Given the description of an element on the screen output the (x, y) to click on. 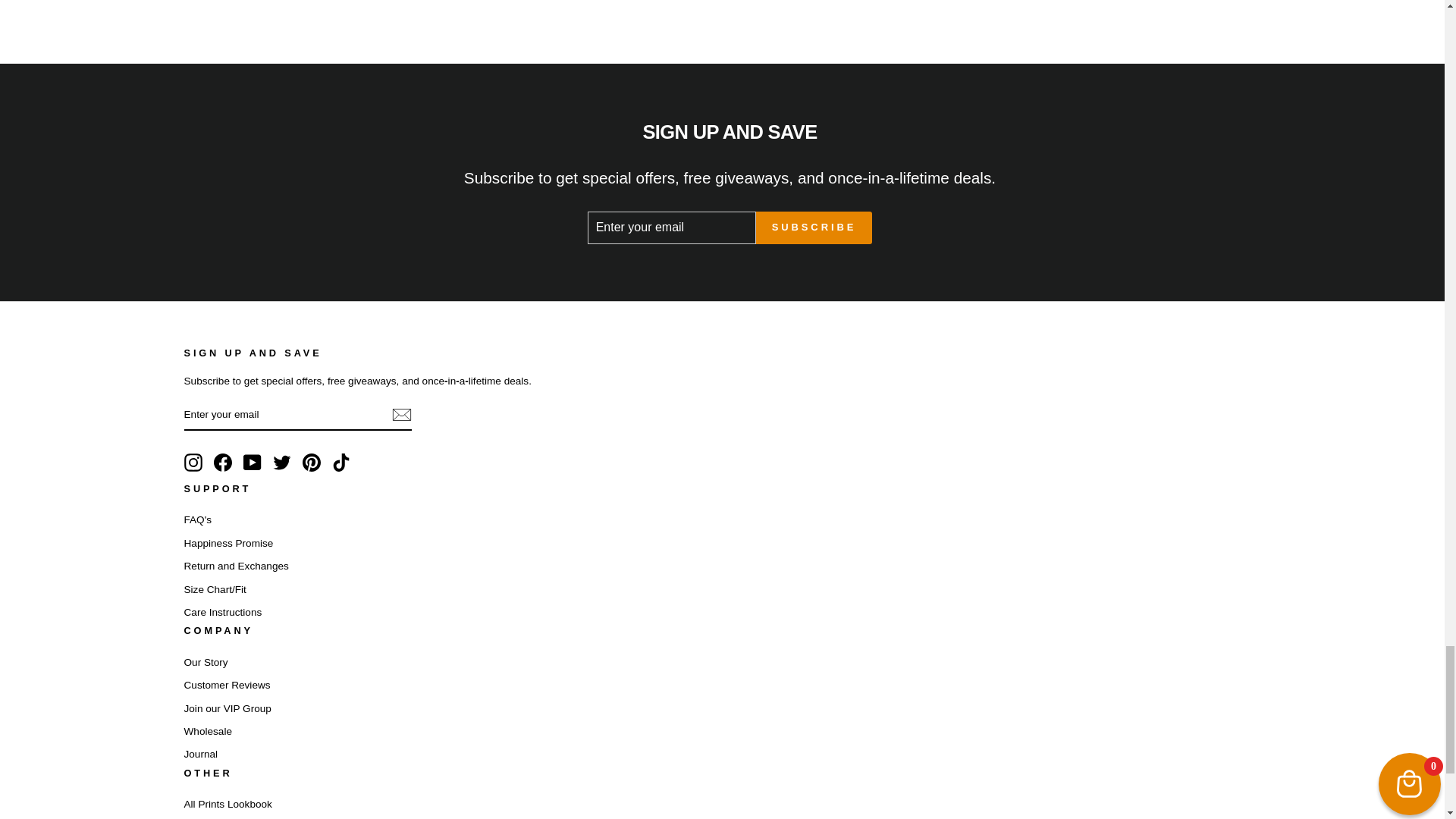
Free Birdees on Instagram (192, 462)
Free Birdees on TikTok (340, 462)
Free Birdees on Facebook (222, 462)
twitter (282, 462)
Free Birdees on Twitter (282, 462)
Free Birdees on YouTube (251, 462)
instagram (192, 462)
Free Birdees on Pinterest (310, 462)
icon-email (400, 414)
